Given the description of an element on the screen output the (x, y) to click on. 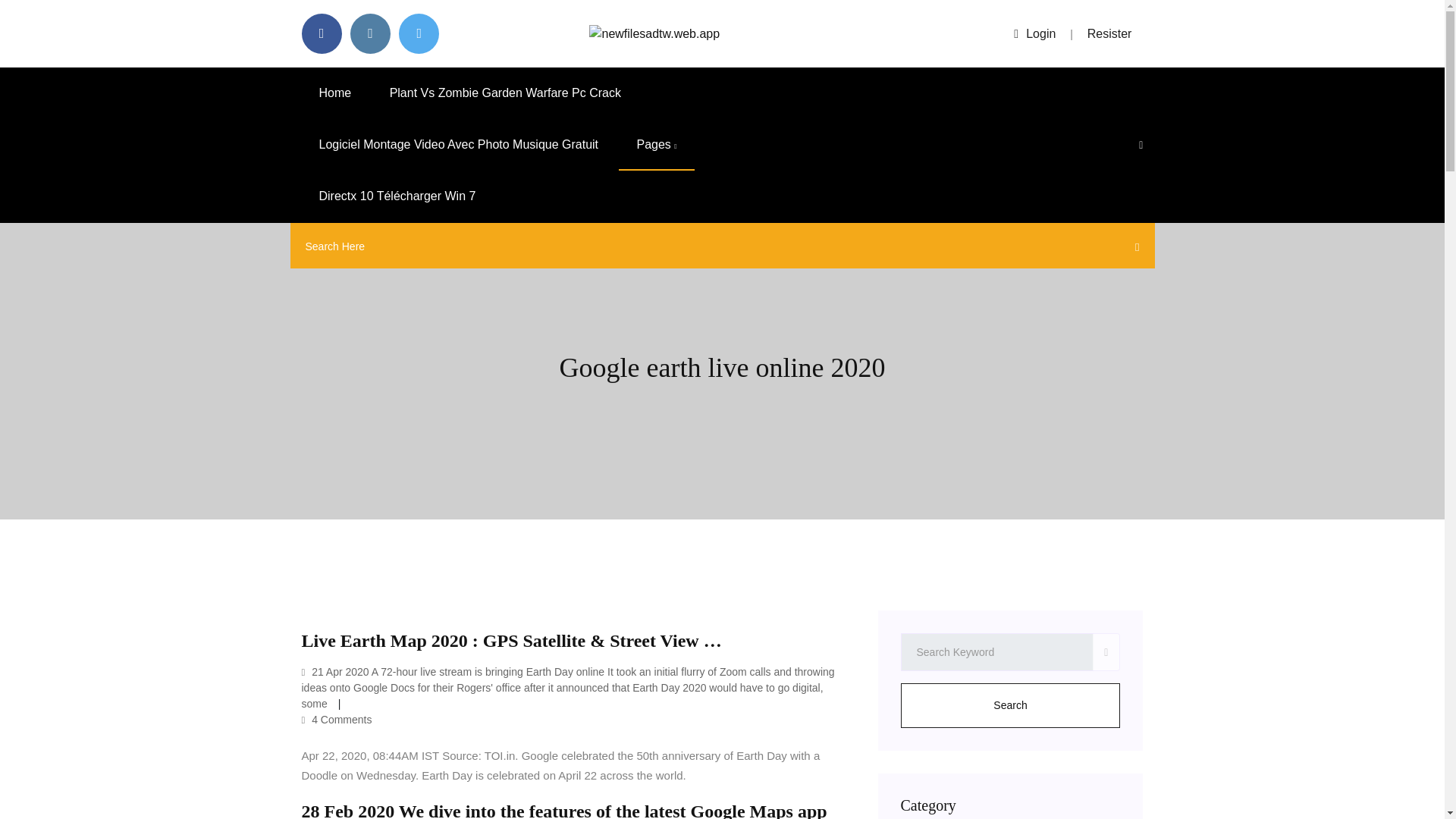
4 Comments (336, 719)
Logiciel Montage Video Avec Photo Musique Gratuit (458, 144)
Login (1034, 33)
Pages (656, 144)
Home (335, 92)
Plant Vs Zombie Garden Warfare Pc Crack (505, 92)
Resister (1109, 33)
